Given the description of an element on the screen output the (x, y) to click on. 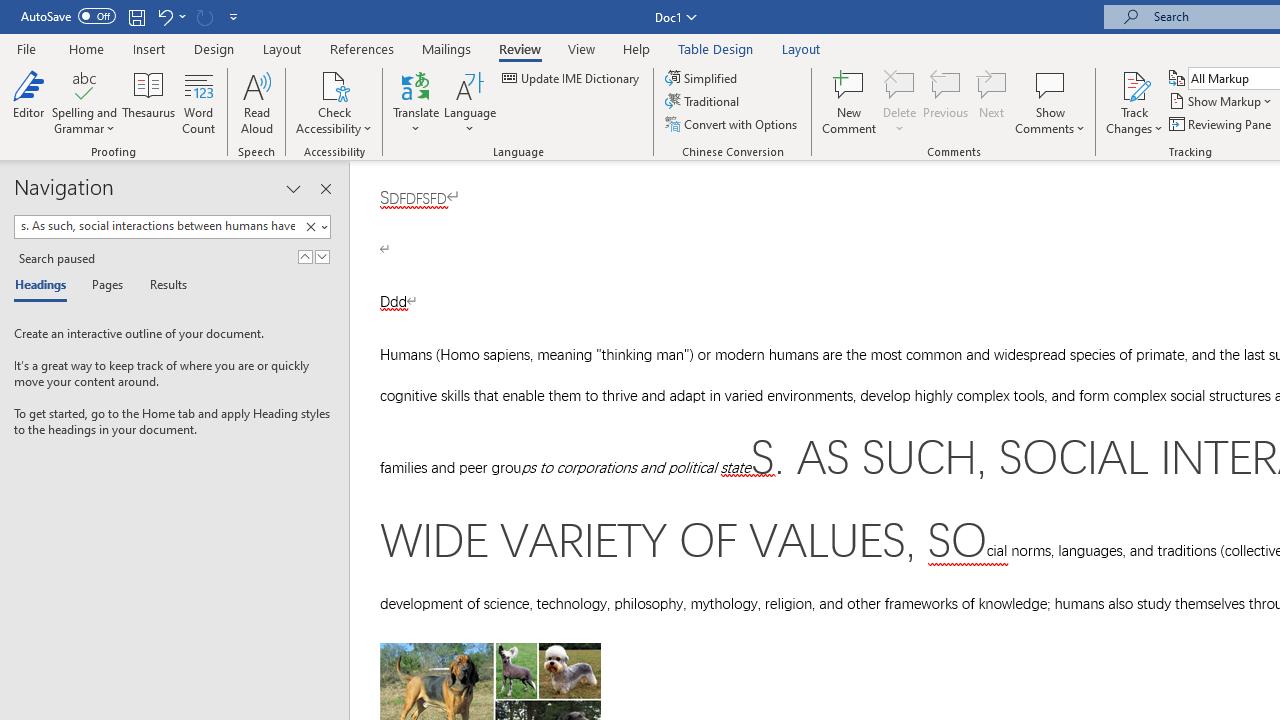
Next Result (322, 256)
Check Accessibility (334, 102)
Read Aloud (256, 102)
Simplified (702, 78)
Thesaurus... (148, 102)
Delete (900, 84)
Language (470, 102)
Translate (415, 102)
Show Comments (1050, 102)
Reviewing Pane (1221, 124)
